Given the description of an element on the screen output the (x, y) to click on. 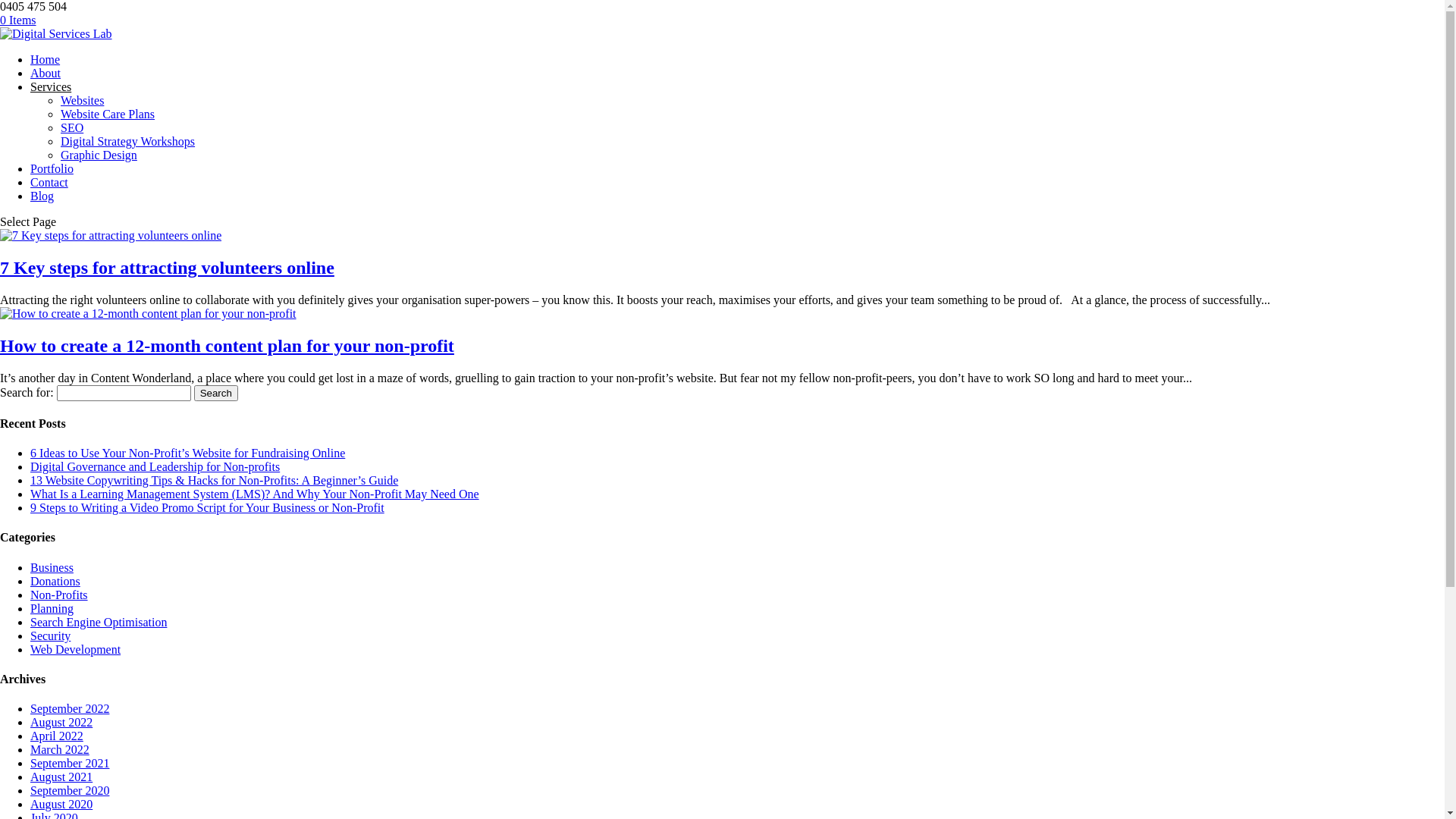
August 2020 Element type: text (61, 803)
SEO Element type: text (71, 127)
Websites Element type: text (81, 100)
September 2022 Element type: text (69, 708)
Business Element type: text (51, 567)
August 2021 Element type: text (61, 776)
Portfolio Element type: text (51, 168)
Non-Profits Element type: text (58, 594)
September 2020 Element type: text (69, 790)
April 2022 Element type: text (56, 735)
0 Items Element type: text (18, 19)
About Element type: text (45, 72)
Search Element type: text (216, 393)
Blog Element type: text (41, 195)
Security Element type: text (50, 635)
September 2021 Element type: text (69, 762)
Planning Element type: text (51, 608)
Web Development Element type: text (75, 649)
Graphic Design Element type: text (98, 154)
Home Element type: text (44, 59)
Donations Element type: text (55, 580)
How to create a 12-month content plan for your non-profit Element type: text (227, 345)
Website Care Plans Element type: text (107, 113)
7 Key steps for attracting volunteers online Element type: text (167, 267)
August 2022 Element type: text (61, 721)
Contact Element type: text (49, 181)
Digital Governance and Leadership for Non-profits Element type: text (154, 466)
Digital Strategy Workshops Element type: text (127, 140)
March 2022 Element type: text (59, 749)
Services Element type: text (50, 86)
Search Engine Optimisation Element type: text (98, 621)
